Given the description of an element on the screen output the (x, y) to click on. 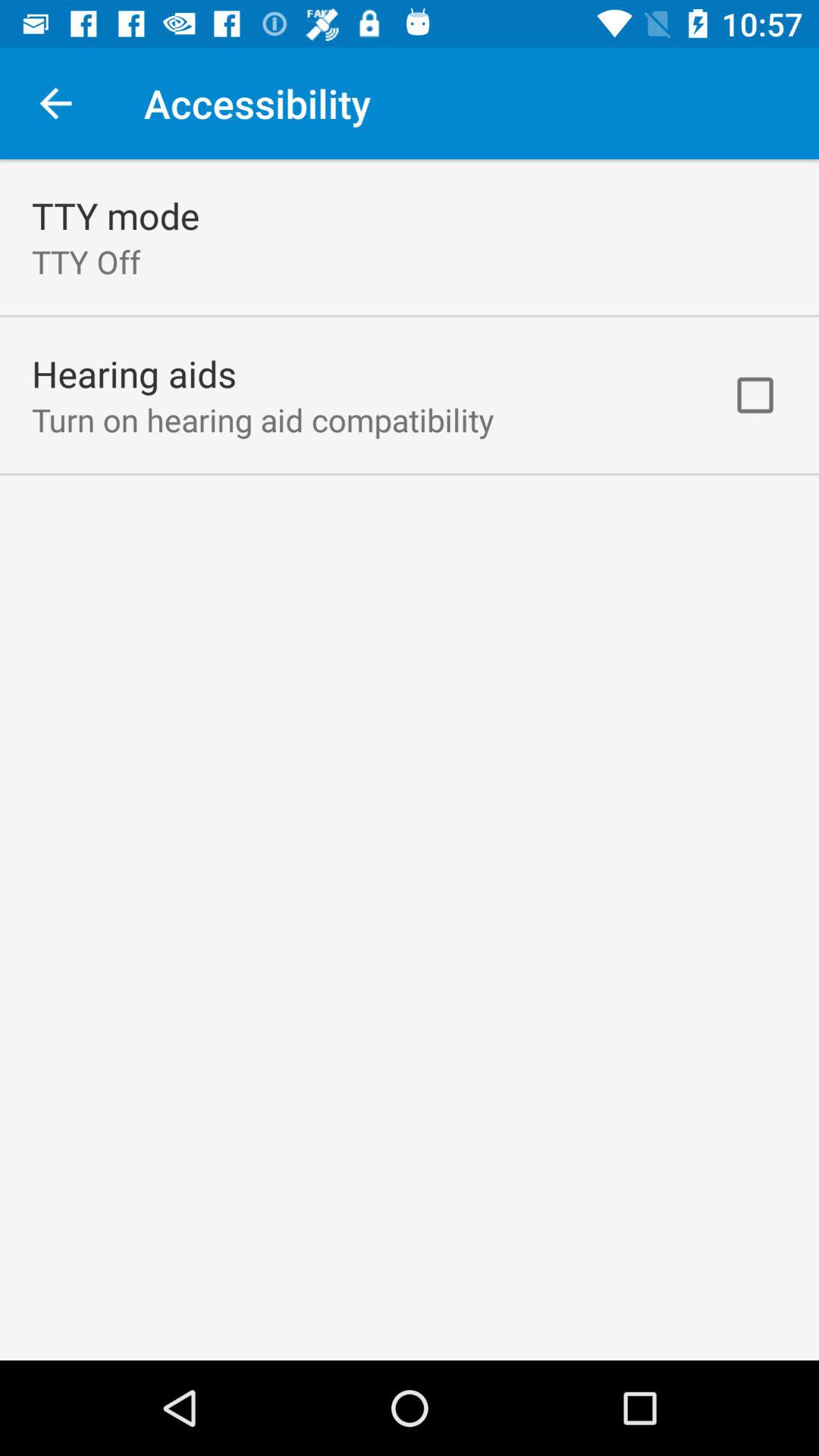
tap the icon above turn on hearing (133, 373)
